Given the description of an element on the screen output the (x, y) to click on. 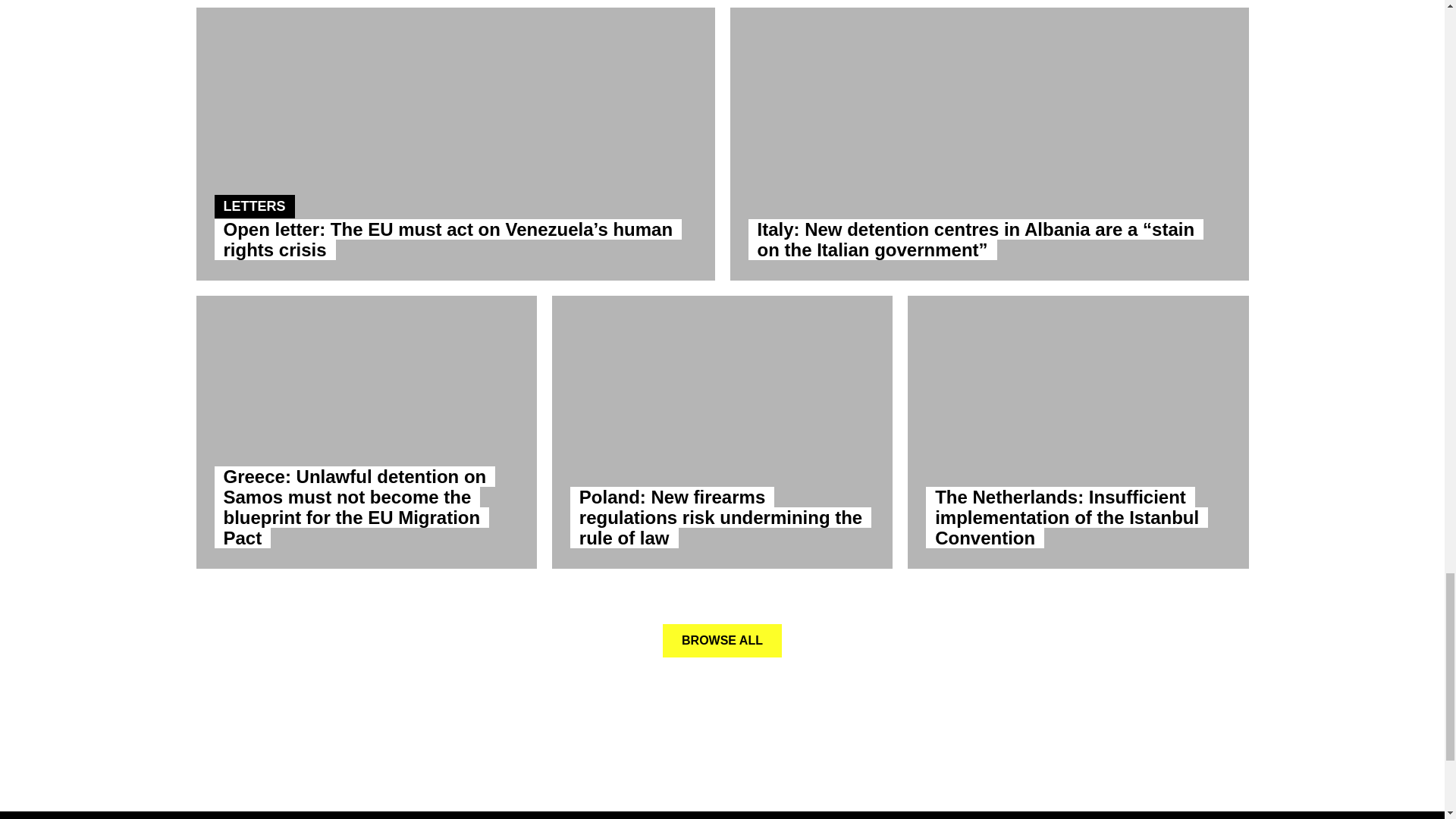
LETTERS (254, 206)
BROWSE ALL (721, 639)
